Given the description of an element on the screen output the (x, y) to click on. 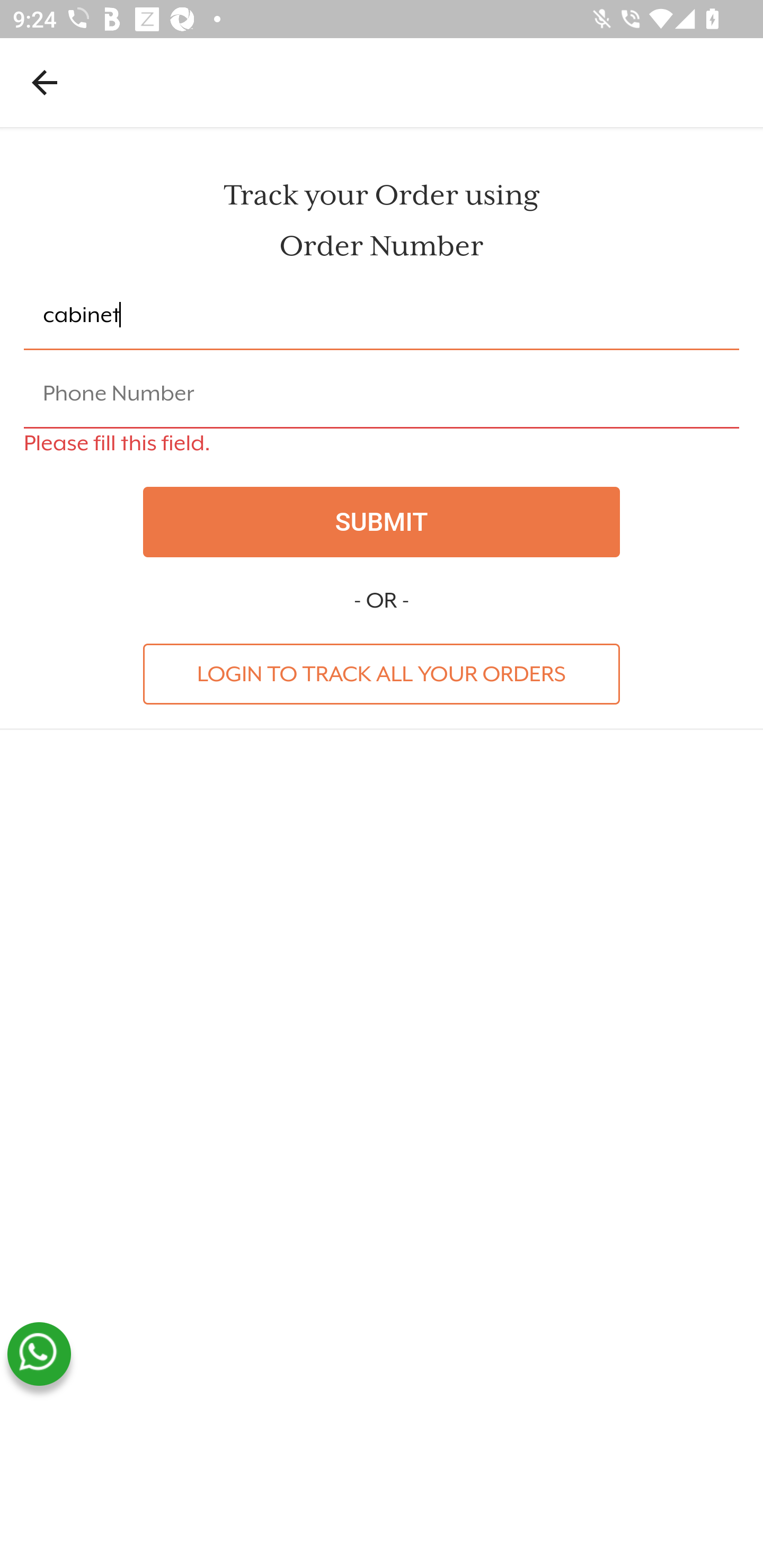
Navigate up (44, 82)
cabinet (381, 315)
SUBMIT (381, 522)
LOGIN TO TRACK ALL YOUR ORDERS (381, 673)
whatsapp (38, 1353)
